Given the description of an element on the screen output the (x, y) to click on. 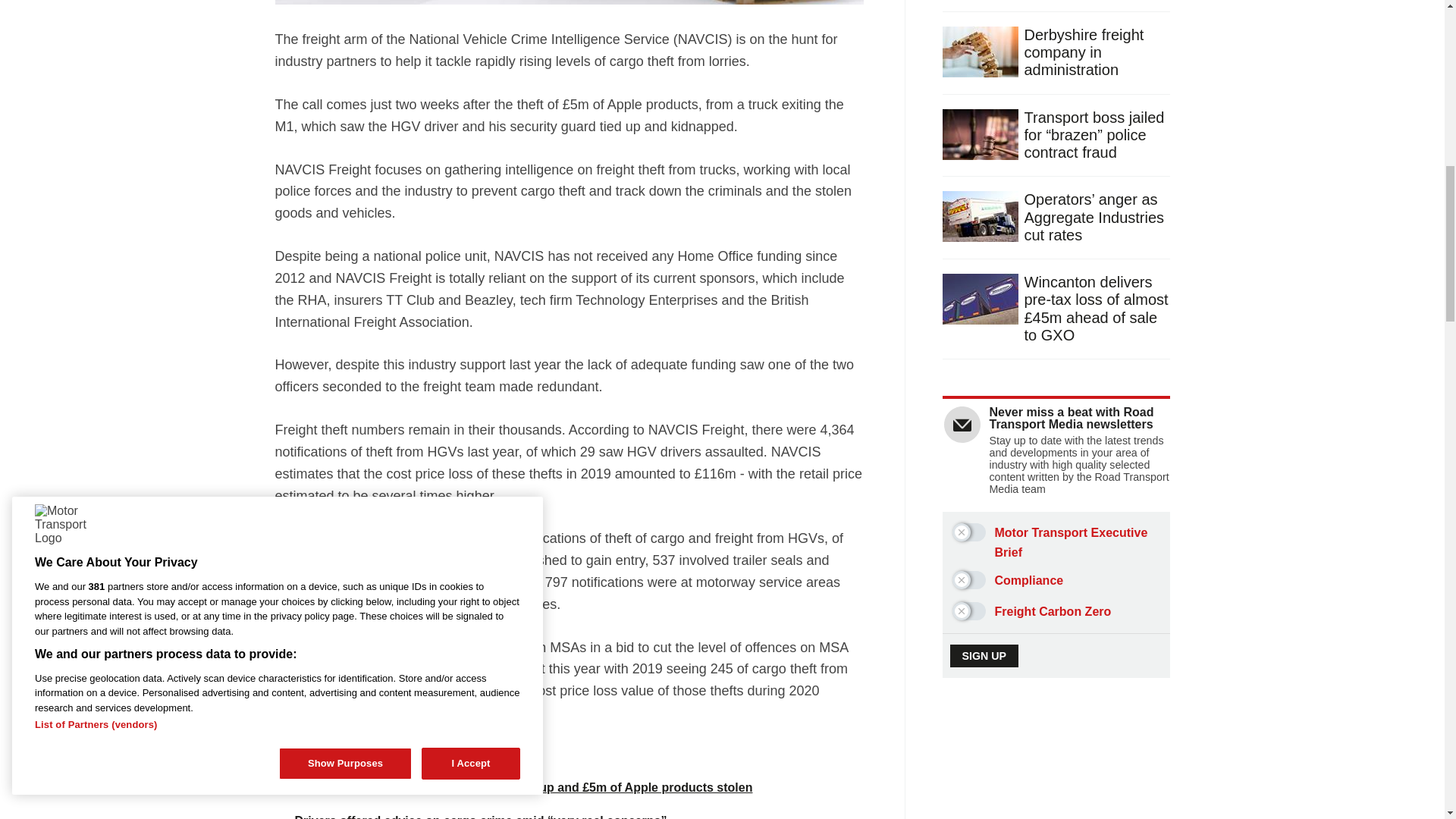
3rd party ad content (1056, 778)
